Given the description of an element on the screen output the (x, y) to click on. 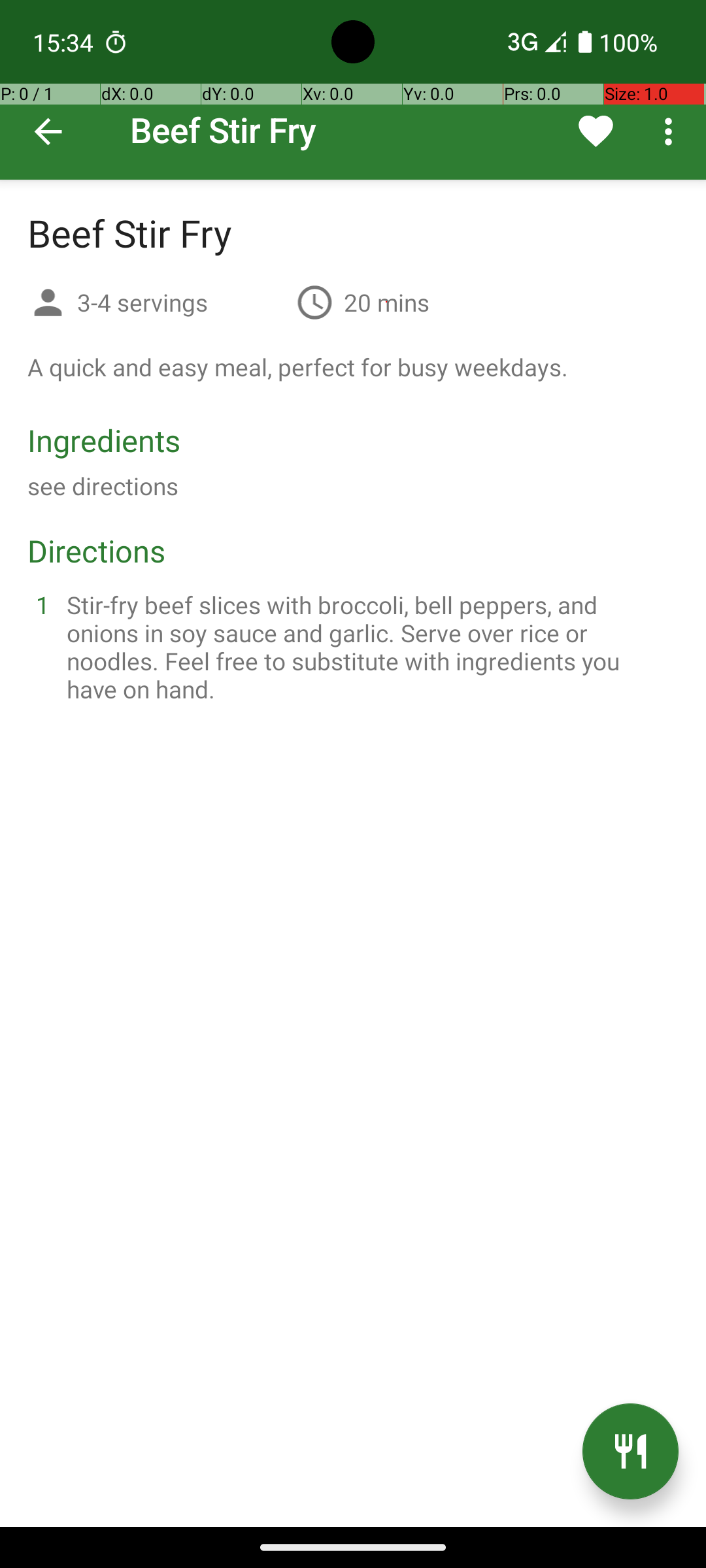
Stir-fry beef slices with broccoli, bell peppers, and onions in soy sauce and garlic. Serve over rice or noodles. Feel free to substitute with ingredients you have on hand. Element type: android.widget.TextView (368, 646)
